Given the description of an element on the screen output the (x, y) to click on. 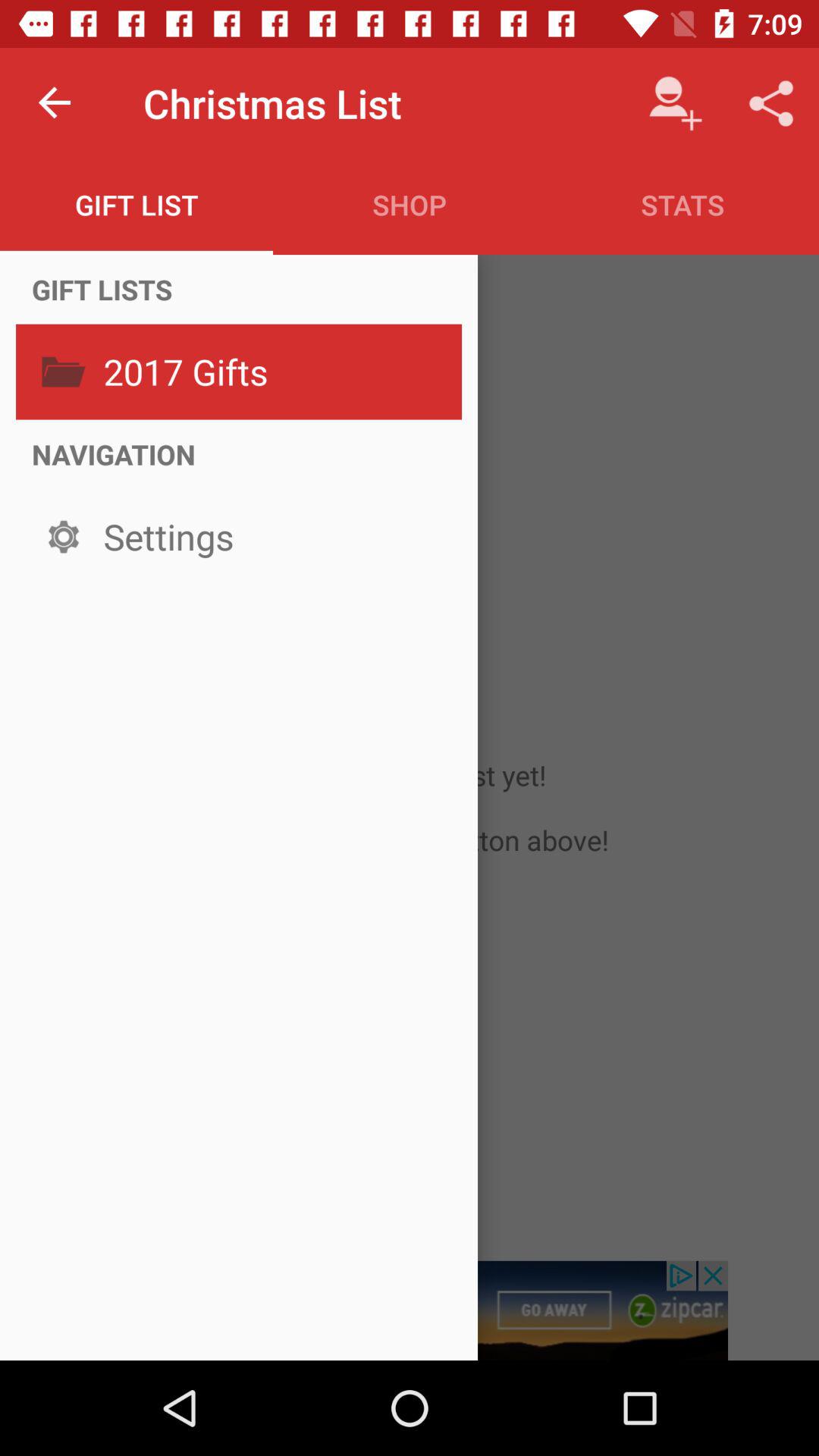
visit sponsor 's page (409, 1310)
